Given the description of an element on the screen output the (x, y) to click on. 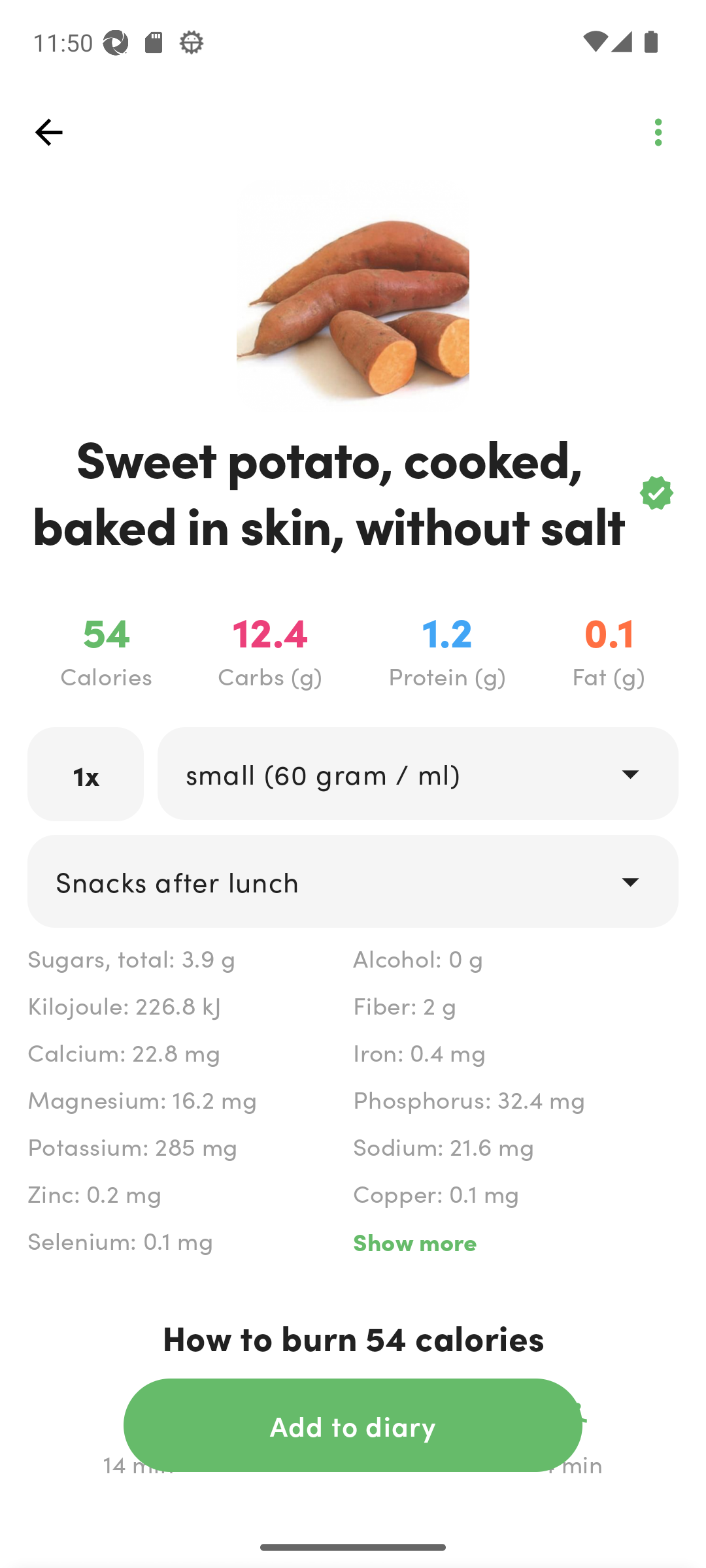
top_left_action (48, 132)
top_left_action (658, 132)
1x labeled_edit_text (85, 774)
drop_down small (60 gram / ml) (417, 773)
drop_down Snacks after lunch (352, 881)
Show more (515, 1240)
action_button Add to diary (352, 1425)
